Given the description of an element on the screen output the (x, y) to click on. 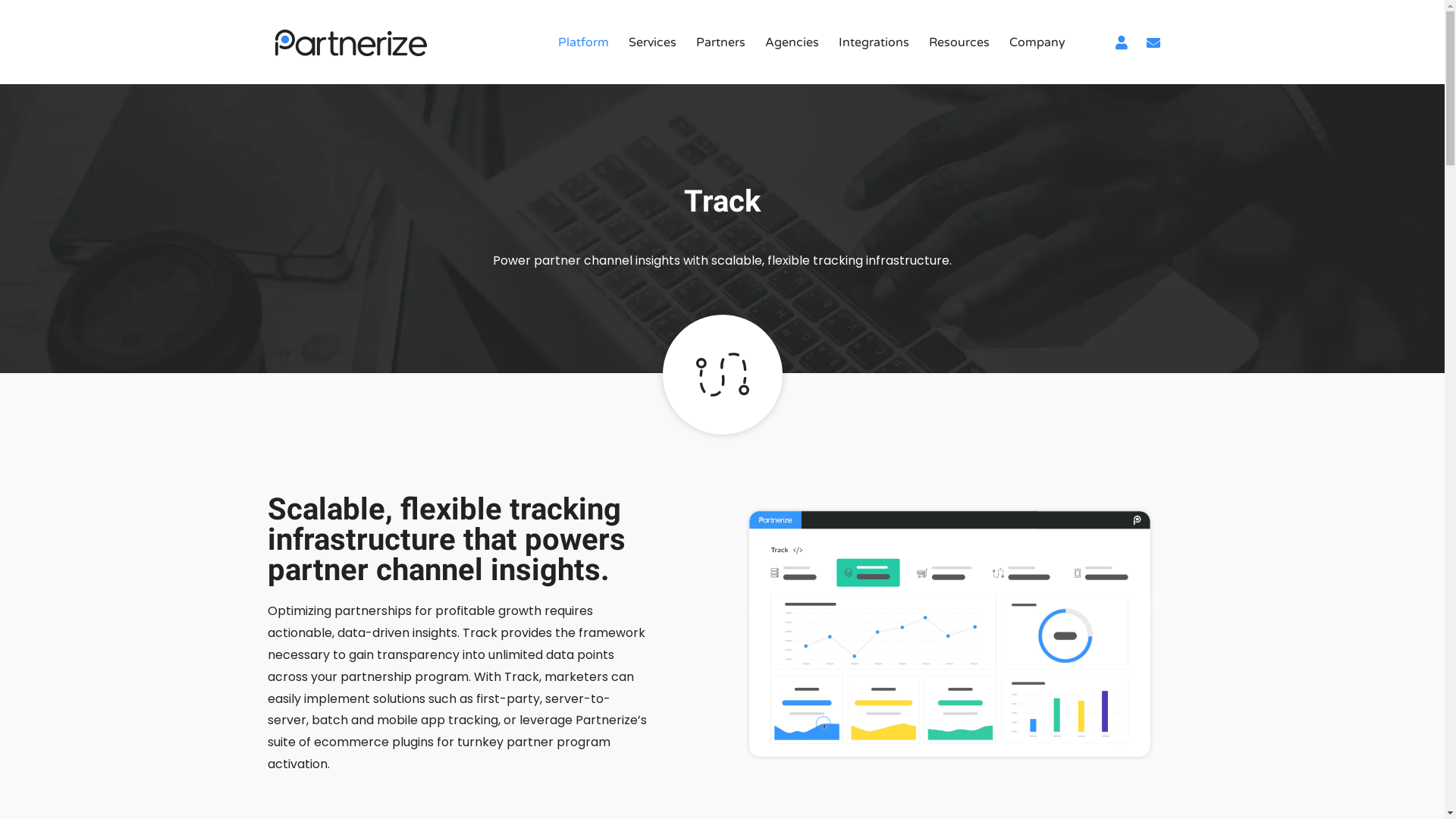
Platform (582, 42)
Partnerize Logo (350, 41)
Company (1036, 42)
Partners (719, 42)
Agencies (791, 42)
Services (651, 42)
Resources (958, 42)
Integrations (873, 42)
